Given the description of an element on the screen output the (x, y) to click on. 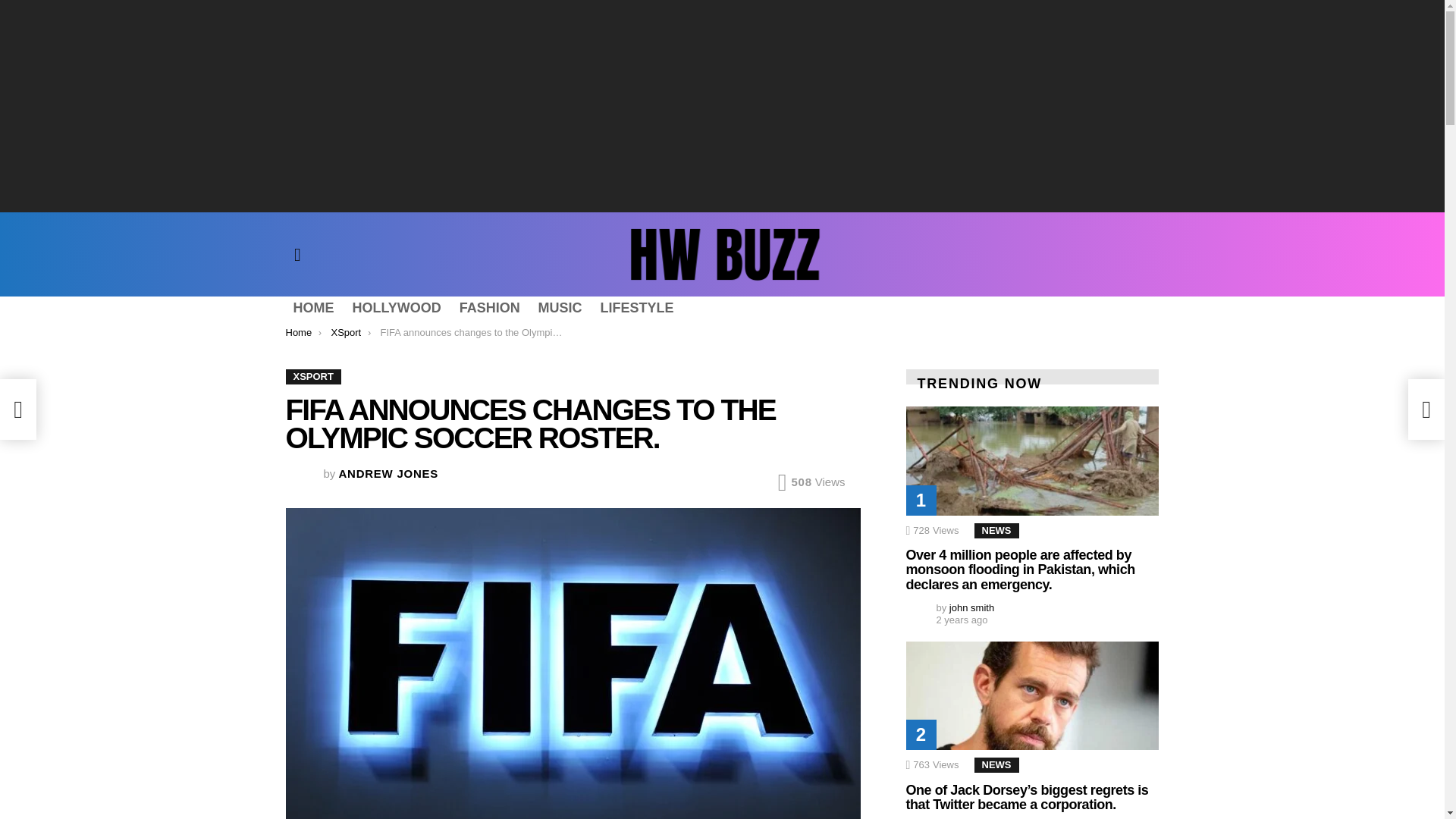
Menu (296, 254)
XSPORT (312, 376)
Home (298, 332)
XSport (345, 332)
FASHION (489, 307)
HOLLYWOOD (395, 307)
MUSIC (560, 307)
LIFESTYLE (636, 307)
ANDREW JONES (389, 472)
